Given the description of an element on the screen output the (x, y) to click on. 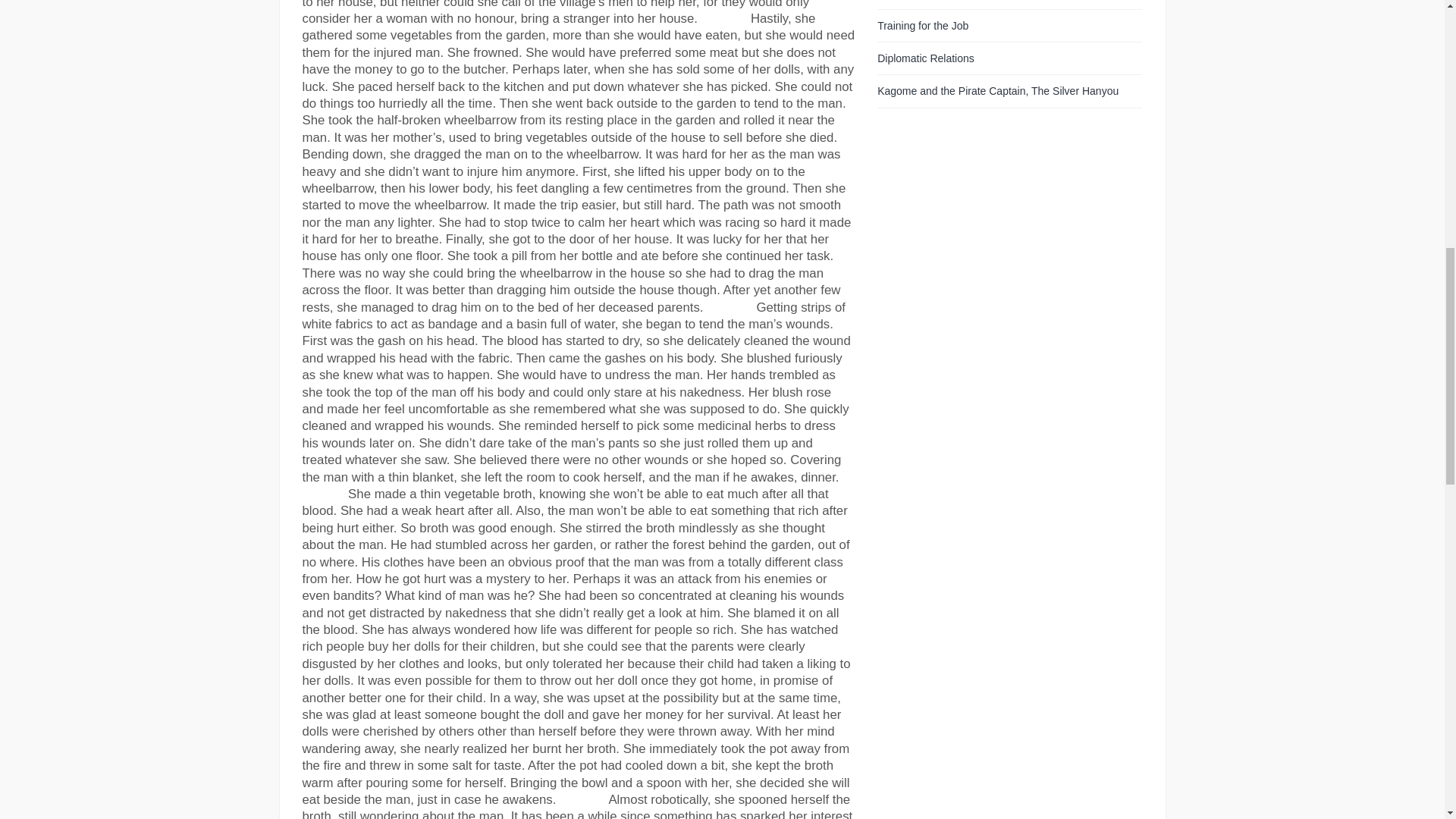
Diplomatic Relations (925, 58)
Kagome and the Pirate Captain, The Silver Hanyou (997, 91)
Training for the Job (922, 25)
